Given the description of an element on the screen output the (x, y) to click on. 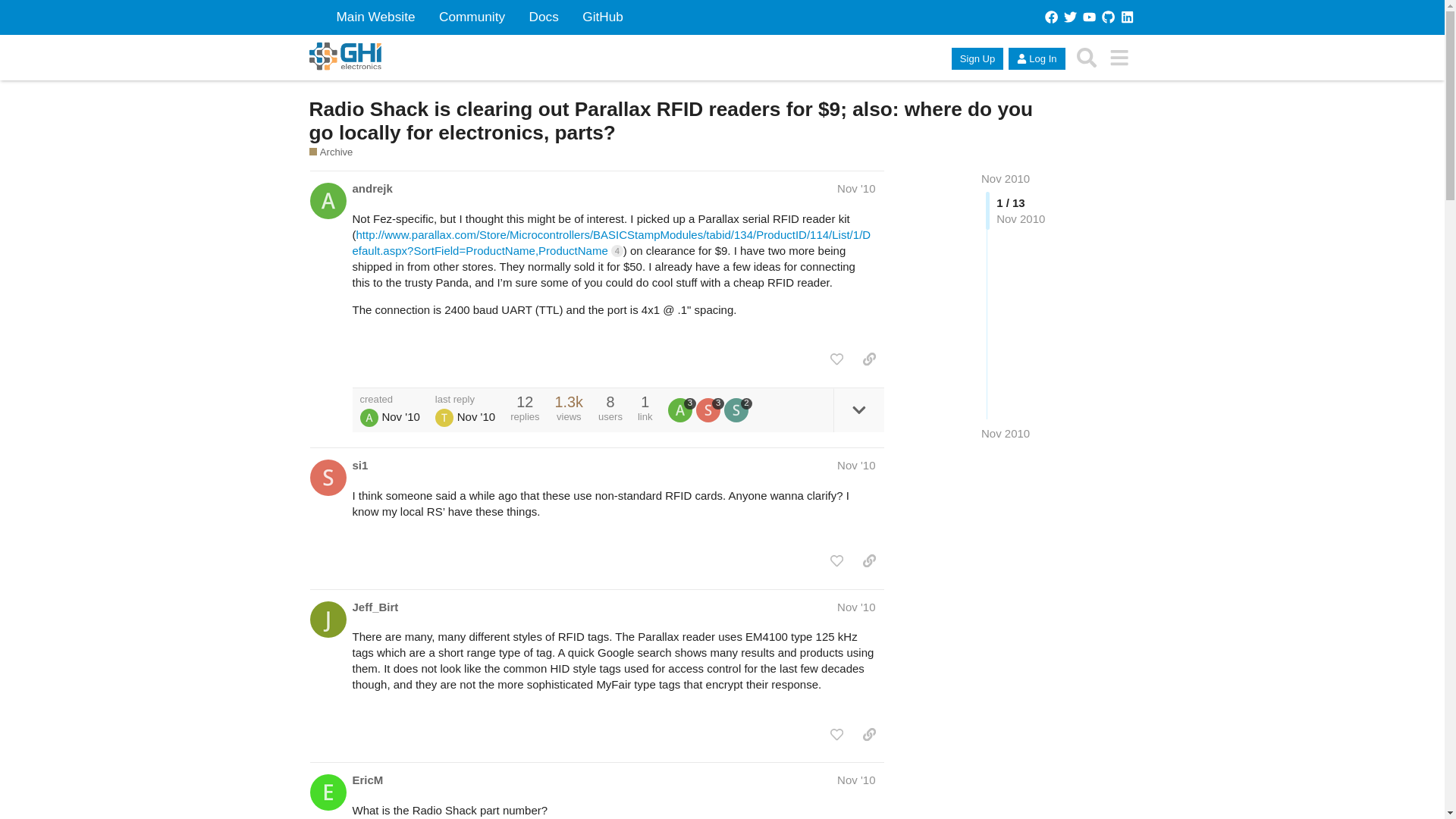
Nov '10 (856, 464)
Outdated old discussions, moved from old forum. (330, 151)
menu (1119, 57)
GitHub (602, 16)
Nov '10 (856, 187)
expand topic details (857, 410)
3 (709, 410)
Log In (1036, 58)
Nov 2010 (1005, 178)
Community (471, 16)
Search (1086, 57)
Yonghan Ching (443, 417)
si1 (360, 465)
3 (680, 410)
Nov 6, 2010 2:41 am (400, 416)
